Given the description of an element on the screen output the (x, y) to click on. 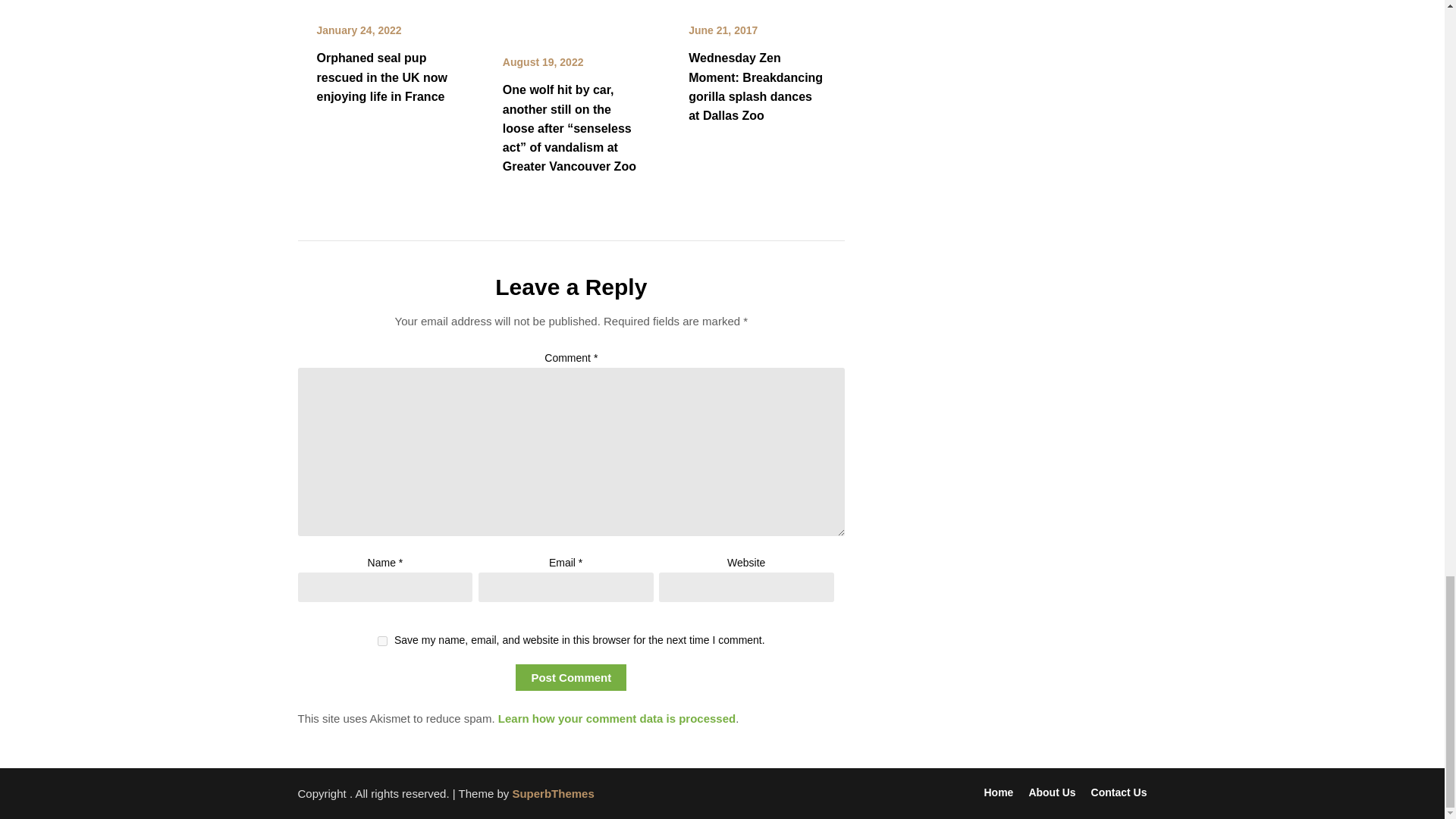
yes (382, 641)
Post Comment (570, 677)
